Given the description of an element on the screen output the (x, y) to click on. 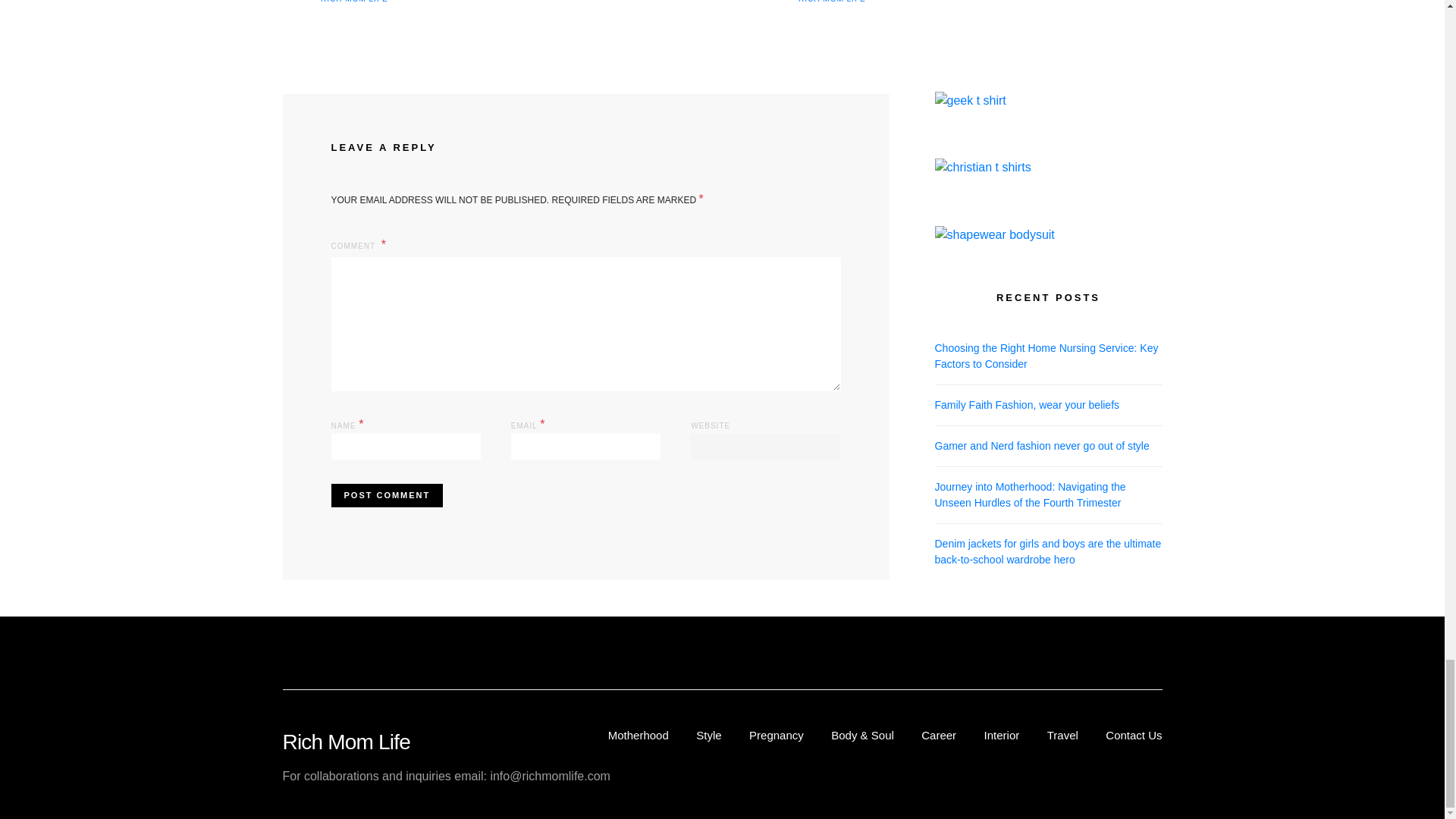
View all posts by Rich Mom Life (831, 1)
View all posts by Rich Mom Life (354, 1)
Post Comment (386, 495)
